Given the description of an element on the screen output the (x, y) to click on. 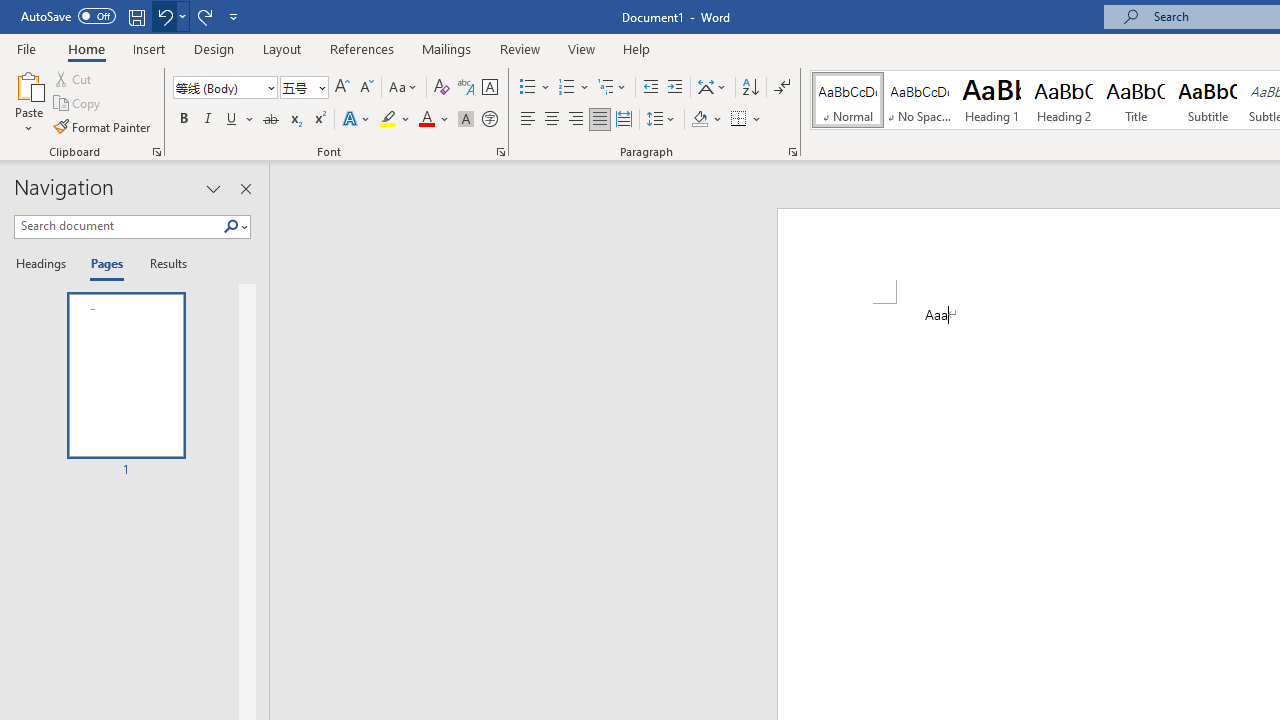
Show/Hide Editing Marks (781, 87)
Align Right (575, 119)
Headings (45, 264)
Text Highlight Color (395, 119)
Search document (118, 226)
Subtitle (1208, 100)
Title (1135, 100)
